Given the description of an element on the screen output the (x, y) to click on. 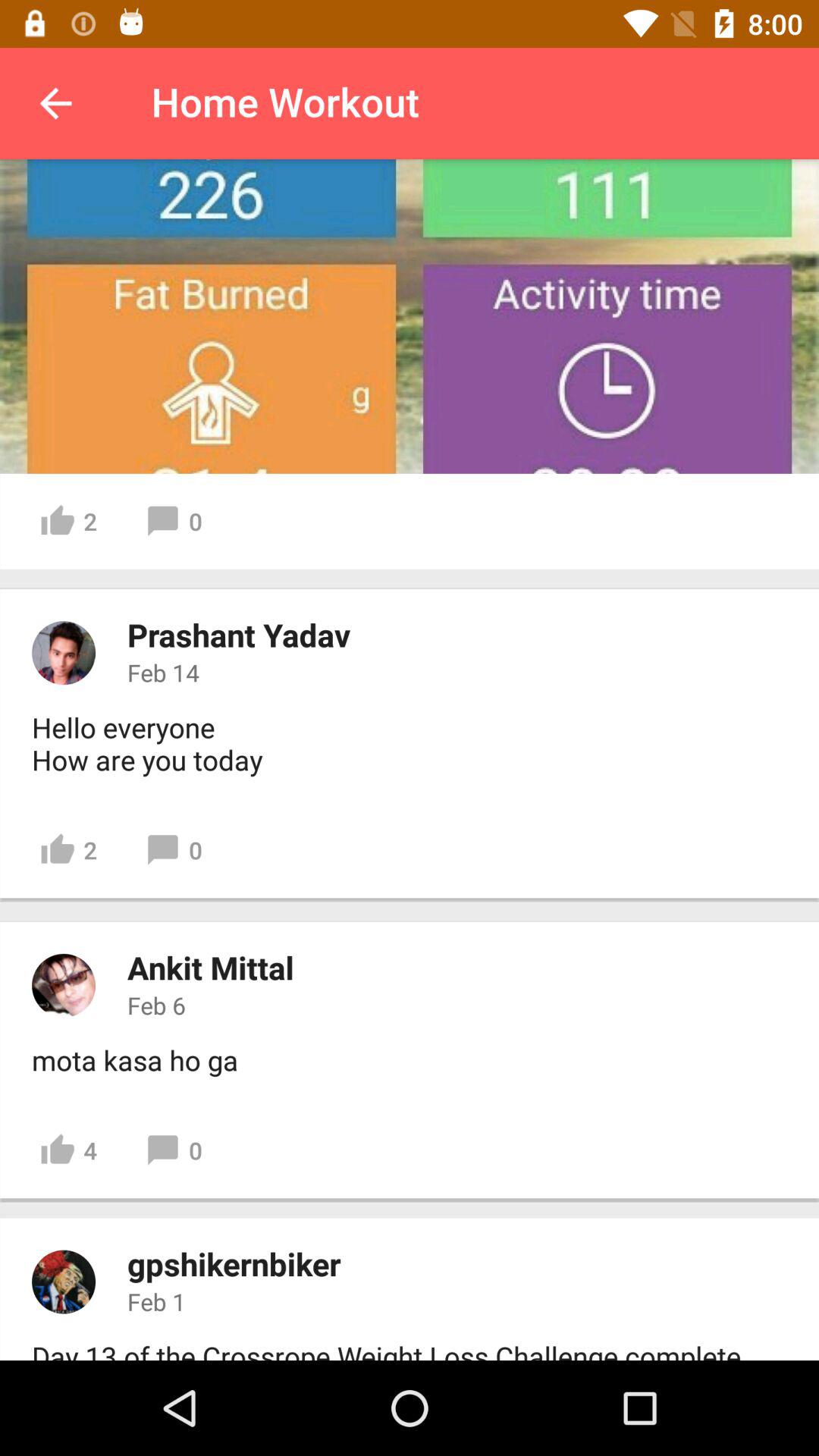
select gpshikernbiker item (233, 1263)
